Given the description of an element on the screen output the (x, y) to click on. 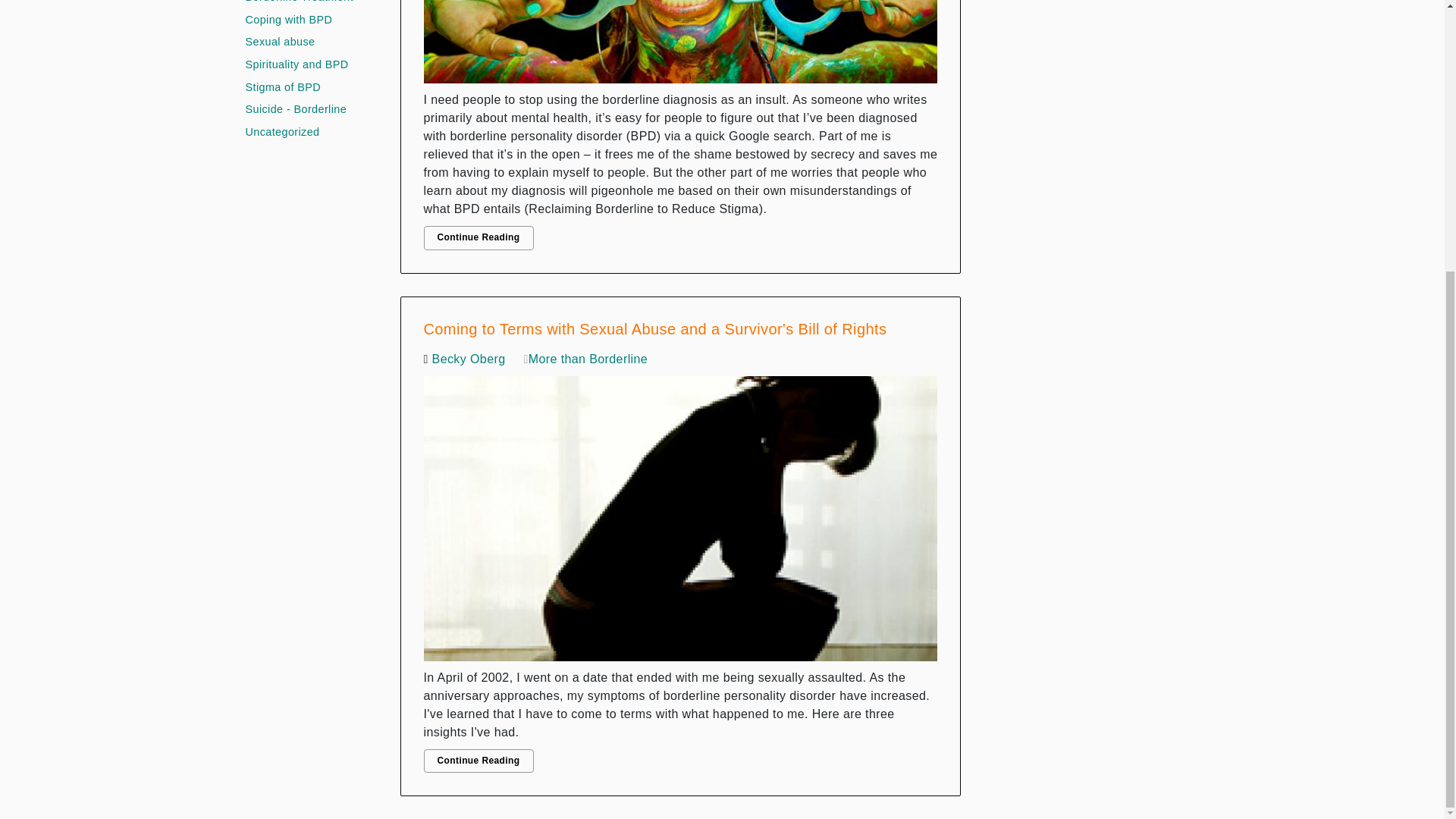
Please Stop Using the Borderline Diagnosis As An Insult (680, 45)
